Given the description of an element on the screen output the (x, y) to click on. 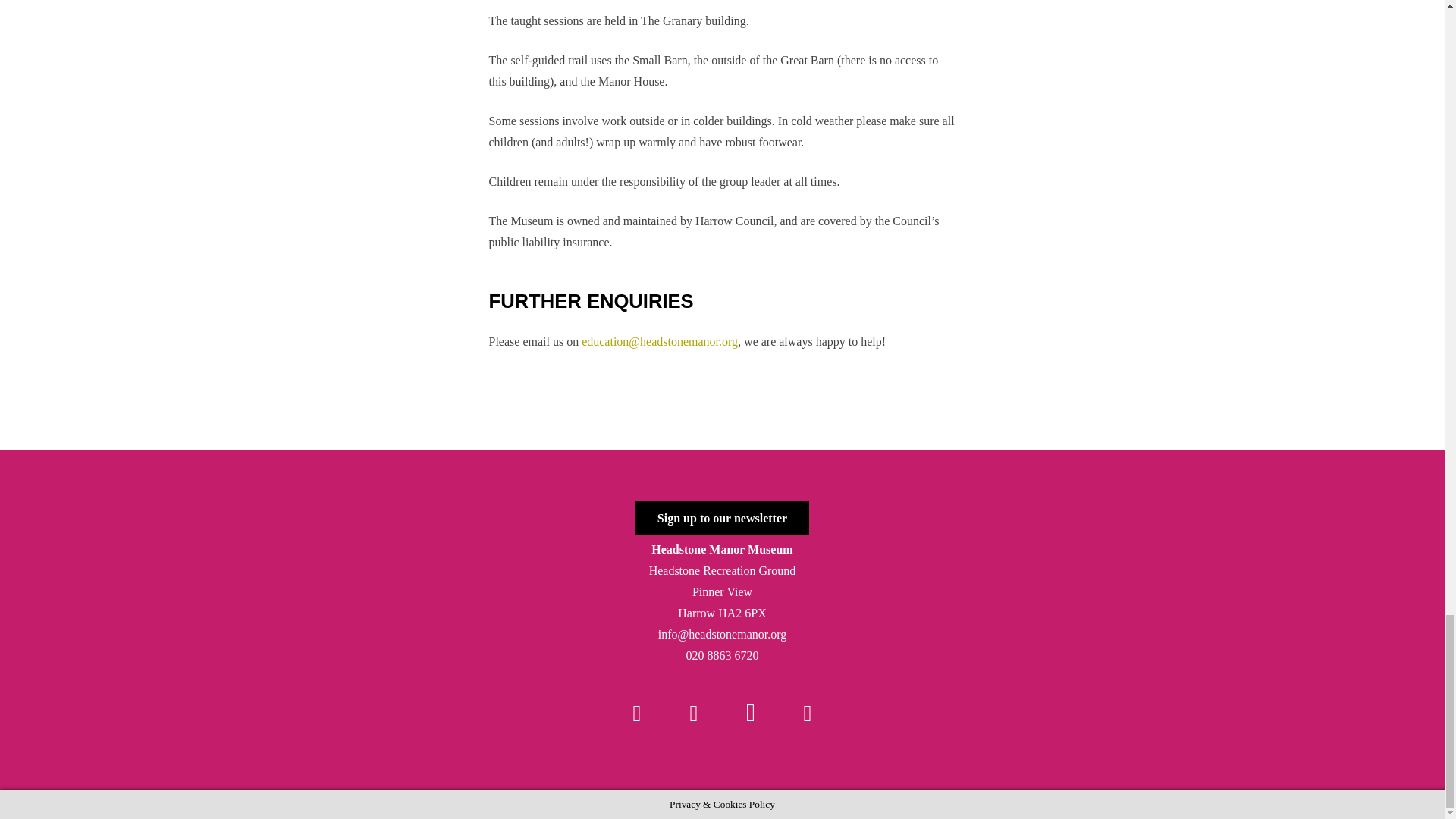
Instagram (750, 713)
Twitter (693, 713)
Tripadvisor (806, 713)
Facebook (636, 713)
